Given the description of an element on the screen output the (x, y) to click on. 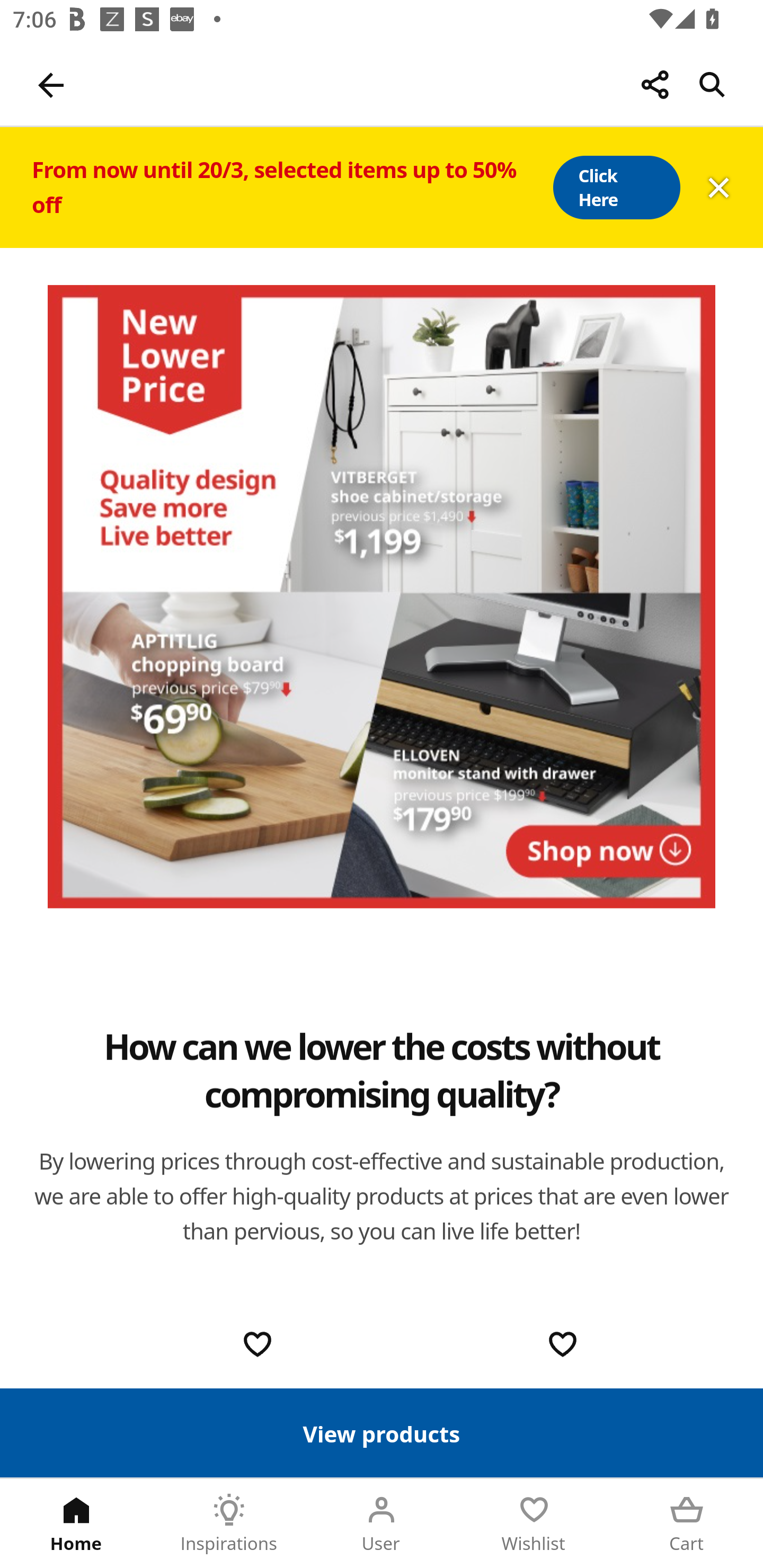
Click Here (615, 187)
new-lower-price#shop-now (381, 596)
View products (381, 1432)
Home
Tab 1 of 5 (76, 1522)
Inspirations
Tab 2 of 5 (228, 1522)
User
Tab 3 of 5 (381, 1522)
Wishlist
Tab 4 of 5 (533, 1522)
Cart
Tab 5 of 5 (686, 1522)
